Given the description of an element on the screen output the (x, y) to click on. 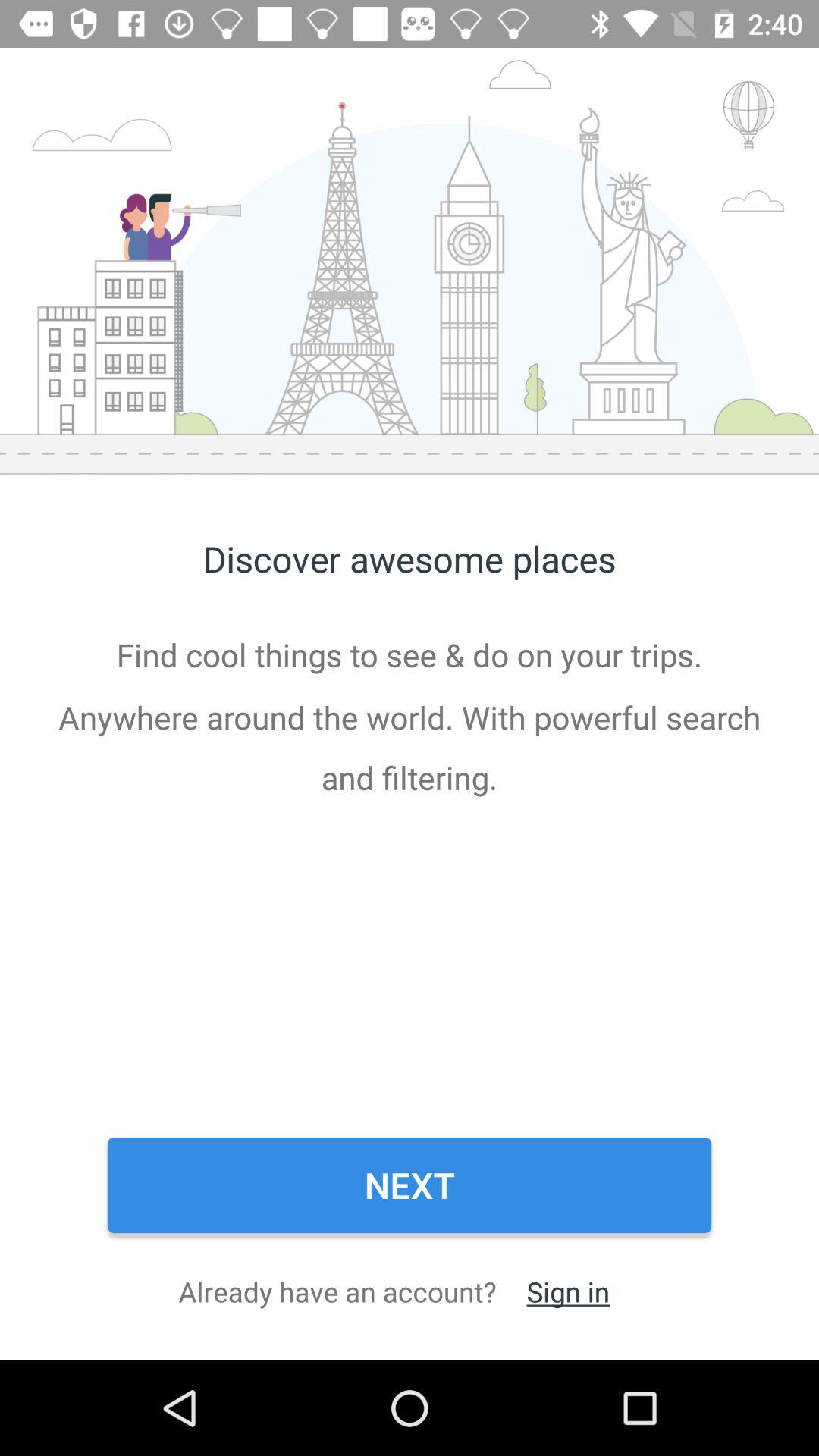
click the item above the already have an (409, 1185)
